Given the description of an element on the screen output the (x, y) to click on. 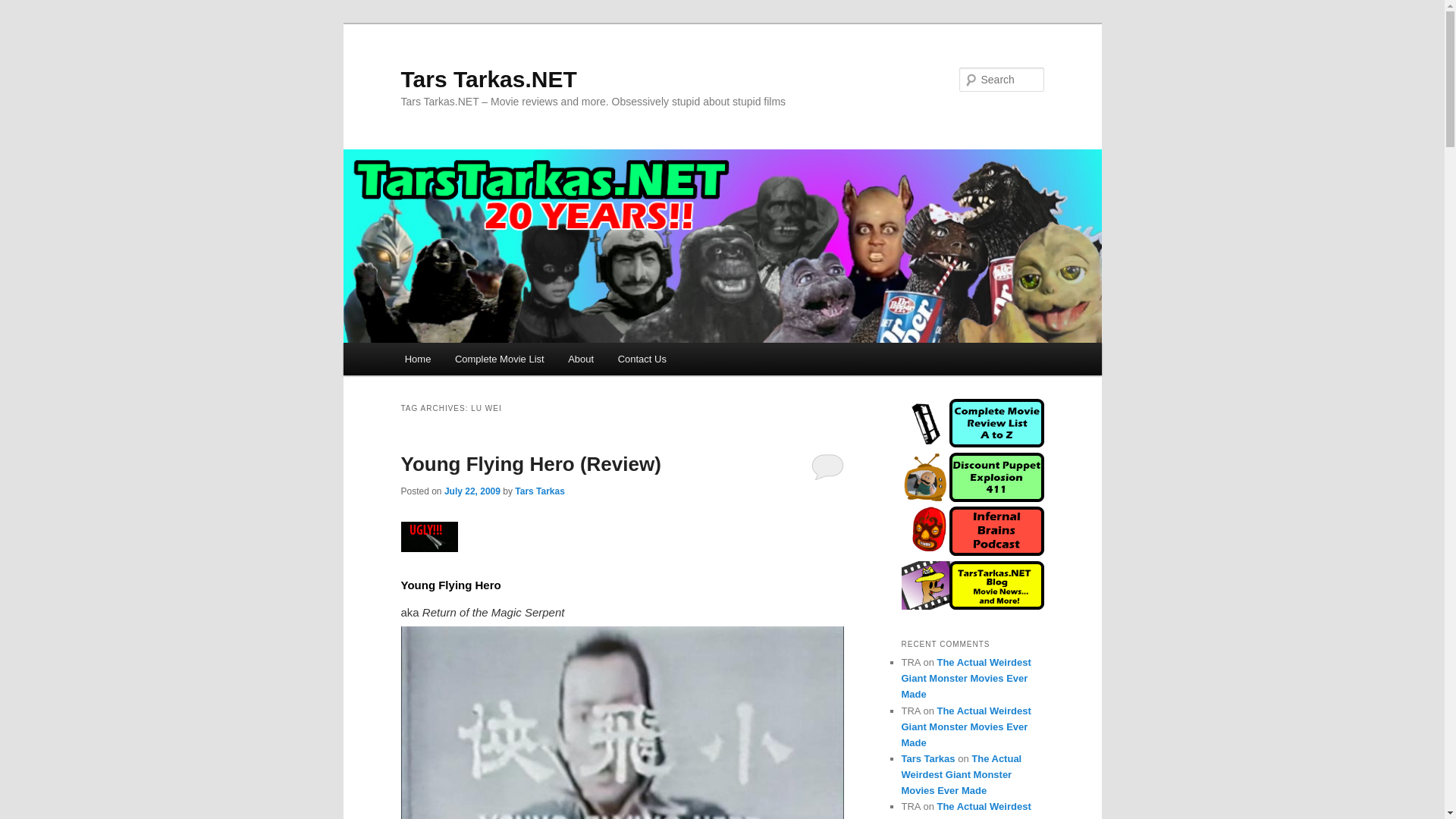
Tars Tarkas.NET (488, 78)
View all posts by Tars Tarkas (539, 491)
About (580, 359)
Complete Movie List (499, 359)
July 22, 2009 (472, 491)
Search (24, 8)
2:35 pm (472, 491)
Home (417, 359)
Tars Tarkas (539, 491)
Contact Us (641, 359)
